Given the description of an element on the screen output the (x, y) to click on. 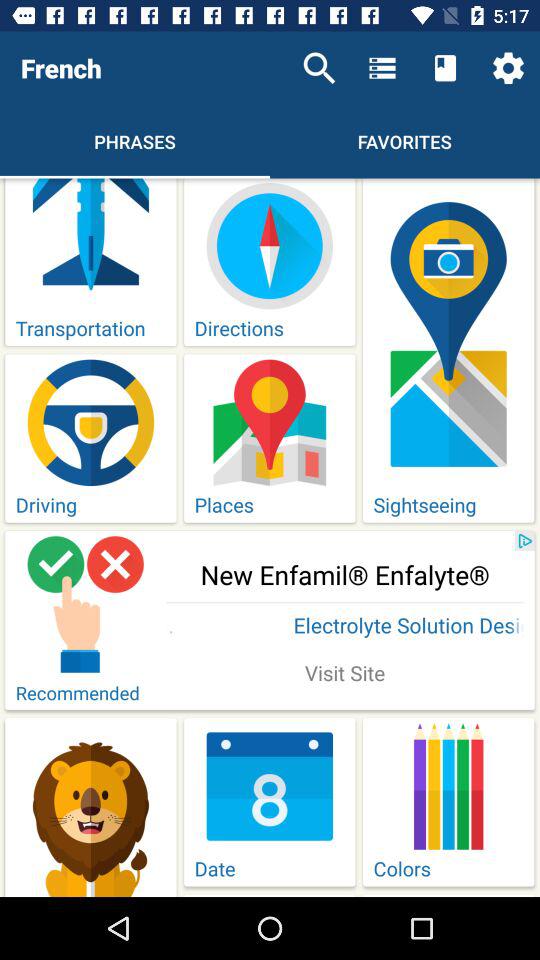
open the icon above visit site icon (345, 627)
